Given the description of an element on the screen output the (x, y) to click on. 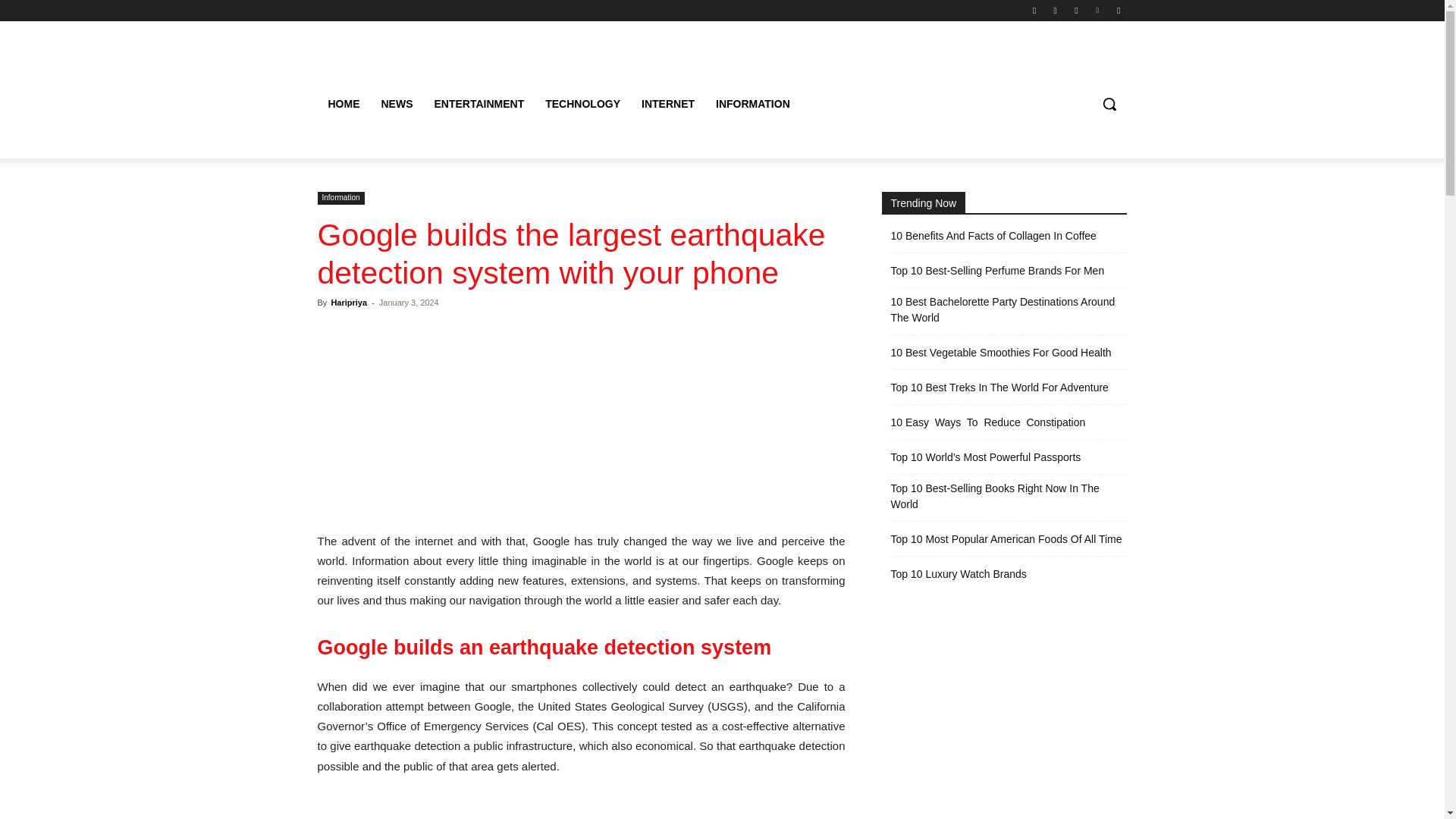
ENTERTAINMENT (478, 103)
Haripriya (348, 302)
NEWS (396, 103)
TECHNOLOGY (582, 103)
HOME (343, 103)
Twitter (1075, 9)
Facebook (1034, 9)
Youtube (1117, 9)
Information (340, 197)
INFORMATION (752, 103)
Advertisement (580, 420)
INTERNET (667, 103)
Vimeo (1097, 9)
Instagram (1055, 9)
Advertisement (580, 807)
